Given the description of an element on the screen output the (x, y) to click on. 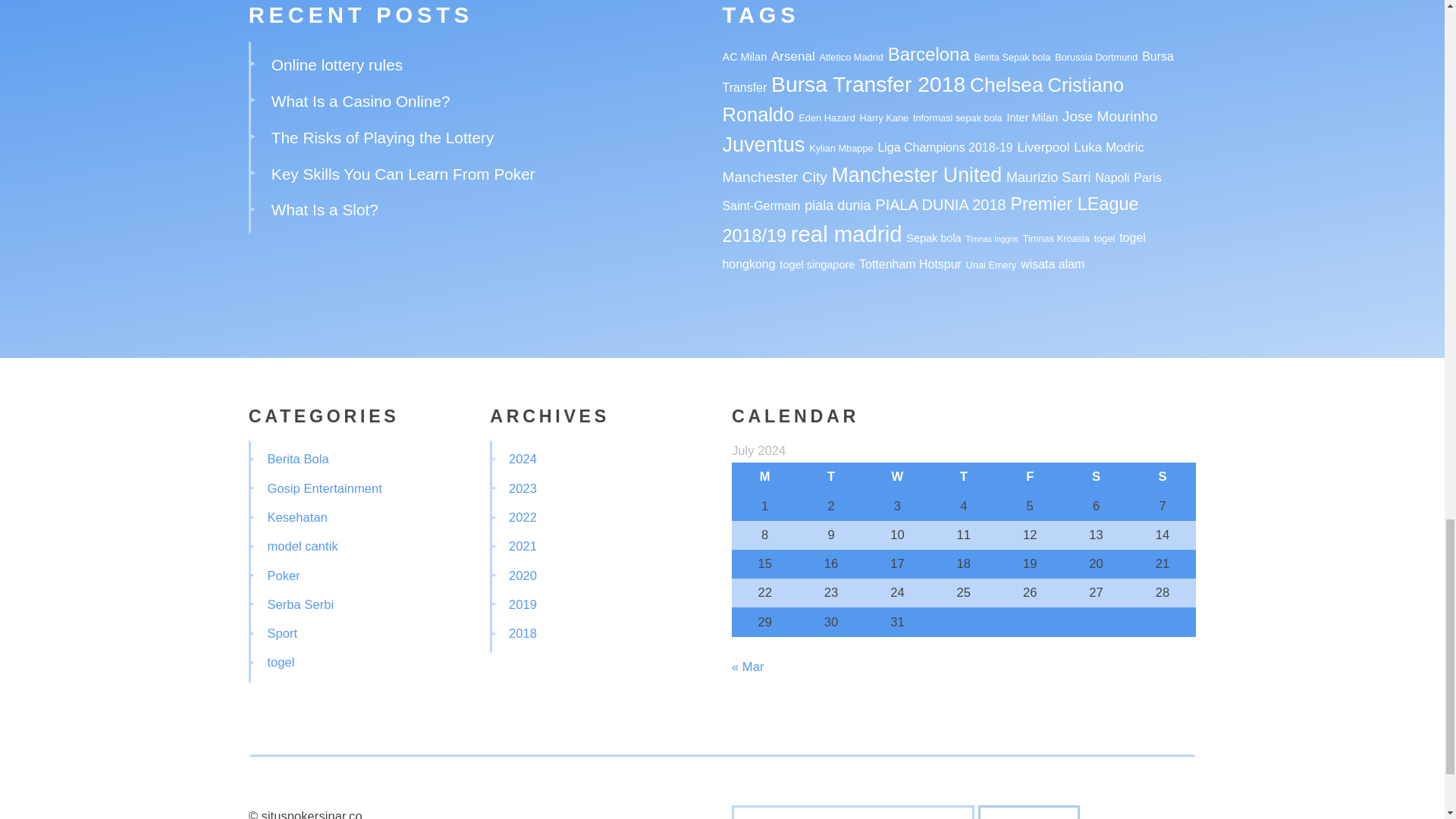
Search (1029, 812)
Inter Milan (1032, 117)
Atletico Madrid (850, 57)
Bursa Transfer (947, 71)
Thursday (962, 476)
Key Skills You Can Learn From Poker (402, 173)
Juventus (763, 144)
Liga Champions 2018-19 (944, 146)
Borussia Dortmund (1095, 57)
What Is a Casino Online? (359, 100)
Saturday (1095, 476)
Eden Hazard (826, 117)
Tuesday (830, 476)
Friday (1029, 476)
Barcelona (928, 54)
